Given the description of an element on the screen output the (x, y) to click on. 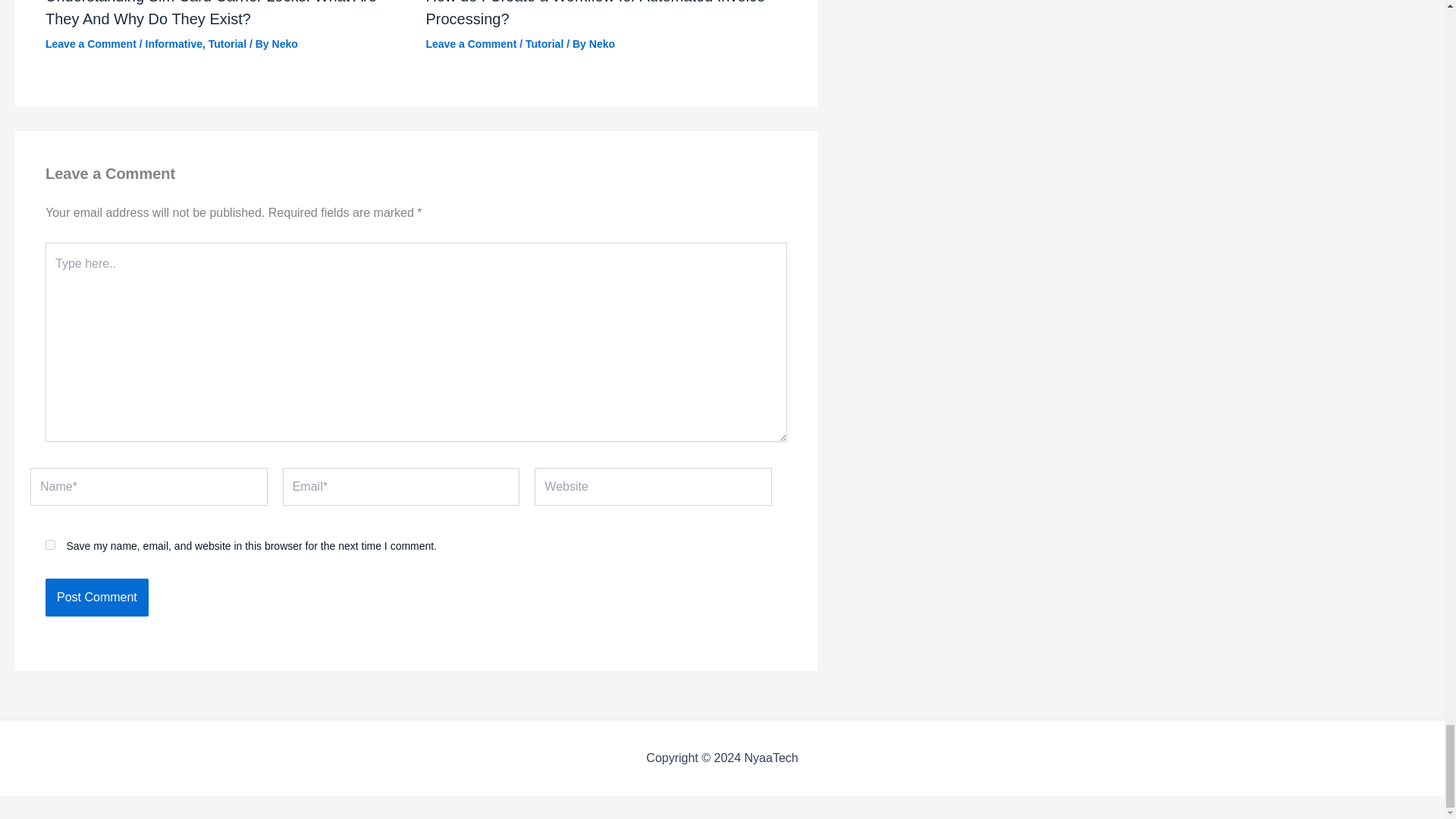
Post Comment (96, 597)
Leave a Comment (471, 43)
View all posts by Neko (285, 43)
Post Comment (96, 597)
Leave a Comment (90, 43)
How do I Create a Workflow for Automated Invoice Processing? (595, 13)
Tutorial (544, 43)
yes (50, 544)
Neko (601, 43)
Informative (173, 43)
